Given the description of an element on the screen output the (x, y) to click on. 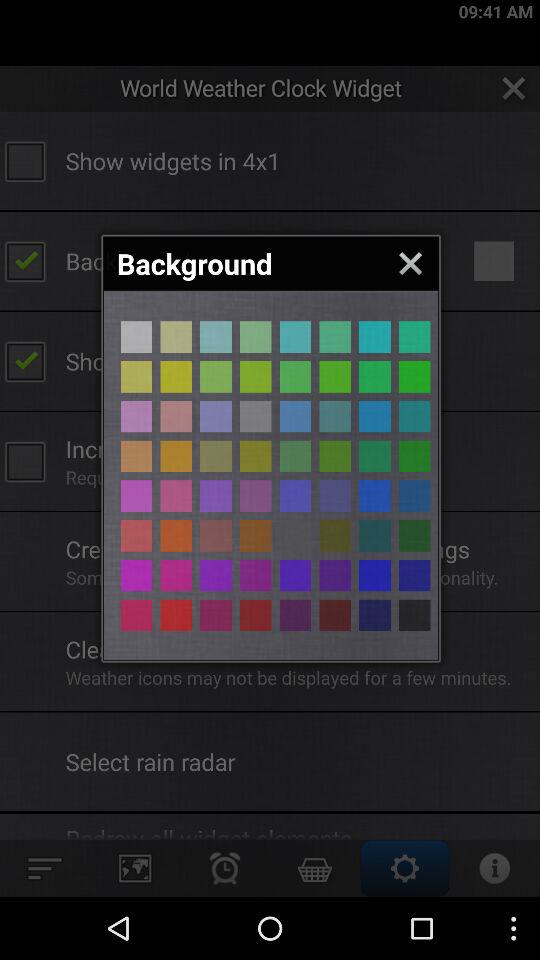
different color page (255, 376)
